Given the description of an element on the screen output the (x, y) to click on. 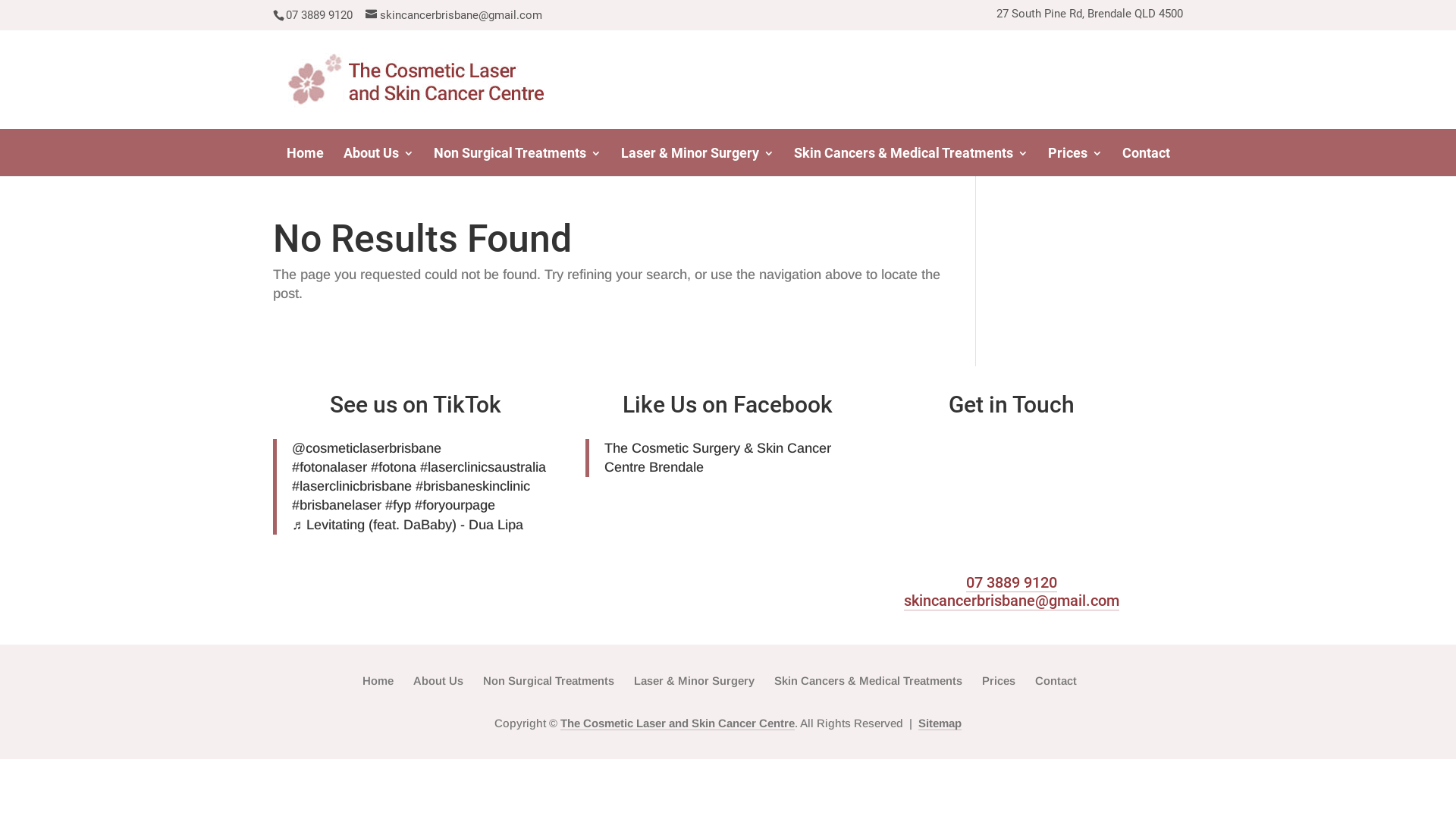
Skin Cancers & Medical Treatments Element type: text (868, 680)
#fotonalaser Element type: text (329, 466)
About Us Element type: text (377, 161)
#foryourpage Element type: text (454, 504)
#fotona Element type: text (393, 466)
Contact Element type: text (1055, 680)
skincancerbrisbane@gmail.com Element type: text (453, 14)
Laser & Minor Surgery Element type: text (693, 680)
#brisbanelaser Element type: text (336, 504)
Non Surgical Treatments Element type: text (548, 680)
Home Element type: text (304, 161)
#brisbaneskinclinic Element type: text (472, 485)
Contact Element type: text (1146, 161)
Skin Cancers & Medical Treatments Element type: text (910, 161)
Non Surgical Treatments Element type: text (517, 161)
The Cosmetic Surgery & Skin Cancer Centre Brendale Element type: text (717, 457)
@cosmeticlaserbrisbane Element type: text (366, 447)
Home Element type: text (377, 680)
#laserclinicsaustralia Element type: text (483, 466)
Prices Element type: text (1075, 161)
#laserclinicbrisbane Element type: text (351, 485)
The Cosmetic Laser and Skin Cancer Centre Element type: text (677, 723)
About Us Element type: text (438, 680)
Laser & Minor Surgery Element type: text (696, 161)
#fyp Element type: text (398, 504)
27 South Pine Rd, Brendale QLD 4500 Element type: text (1089, 18)
Sitemap Element type: text (939, 723)
Prices Element type: text (998, 680)
skincancerbrisbane@gmail.com Element type: text (1011, 600)
07 3889 9120 Element type: text (1011, 582)
